Given the description of an element on the screen output the (x, y) to click on. 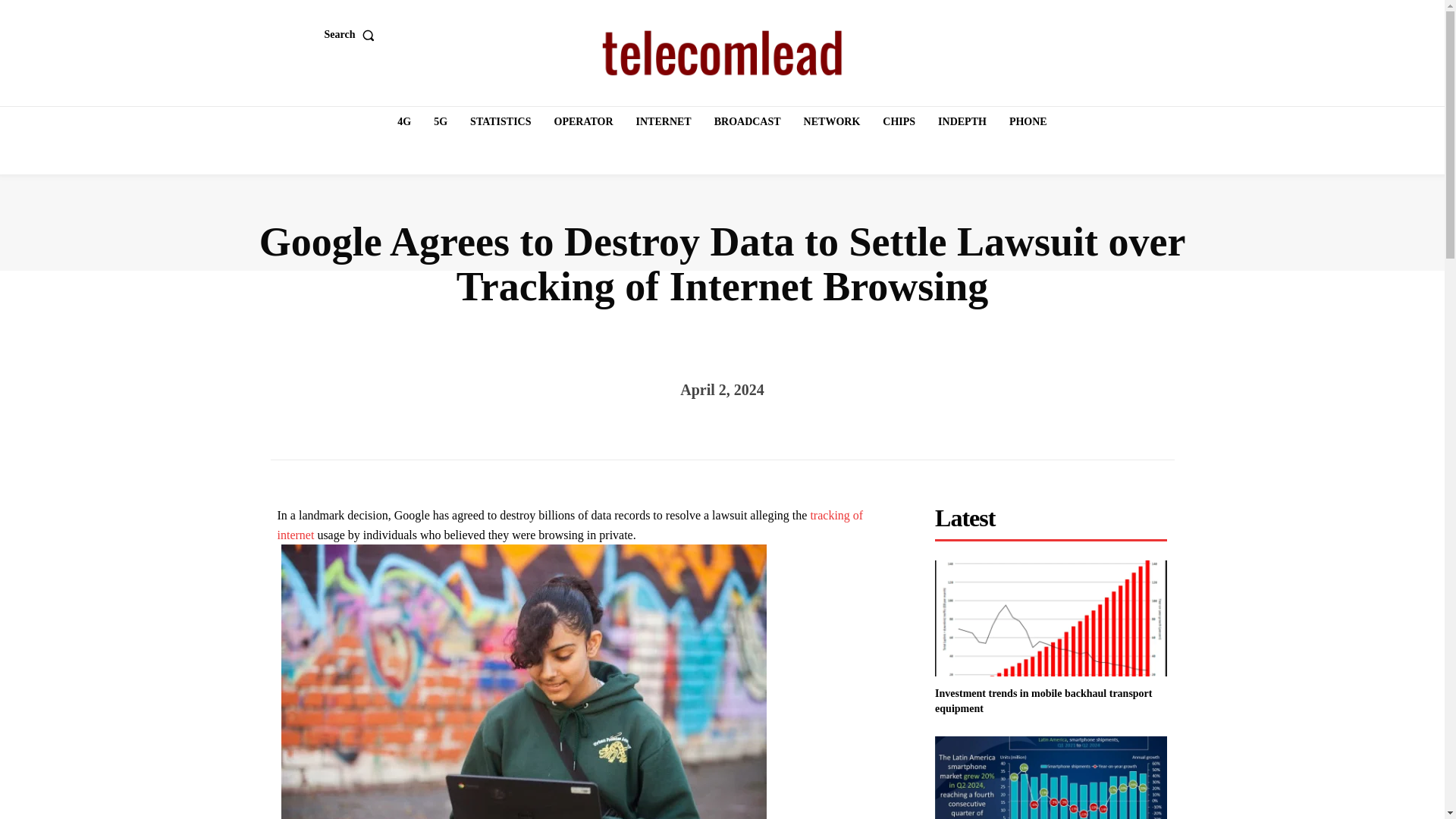
4G (404, 122)
Search (352, 34)
INDEPTH (962, 122)
INTERNET (663, 122)
tl (722, 53)
CHIPS (899, 122)
PHONE (1027, 122)
Investment trends in mobile backhaul transport equipment (1050, 618)
Investment trends in mobile backhaul transport equipment (1042, 700)
STATISTICS (500, 122)
